Given the description of an element on the screen output the (x, y) to click on. 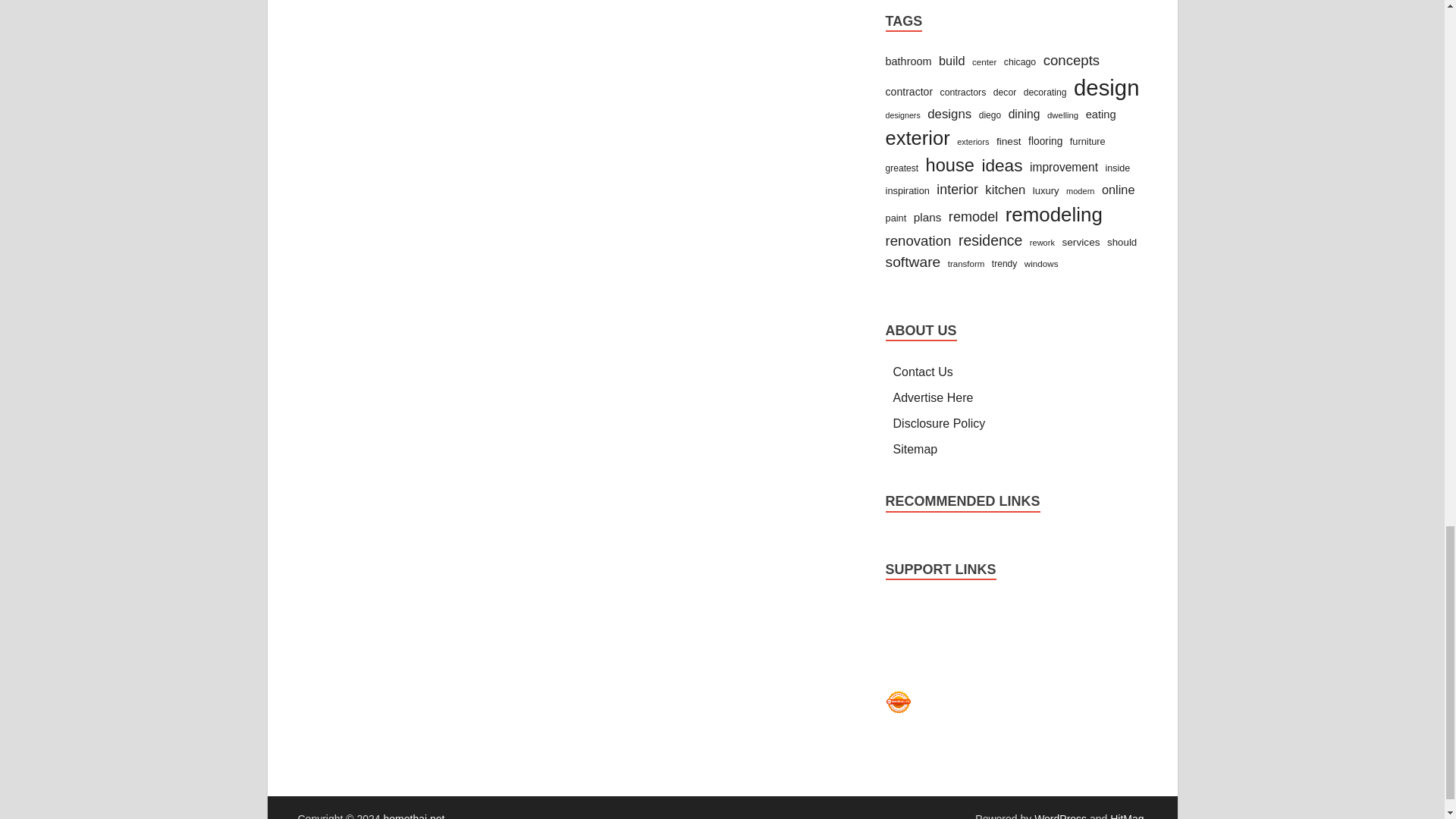
Seedbacklink (898, 701)
